Given the description of an element on the screen output the (x, y) to click on. 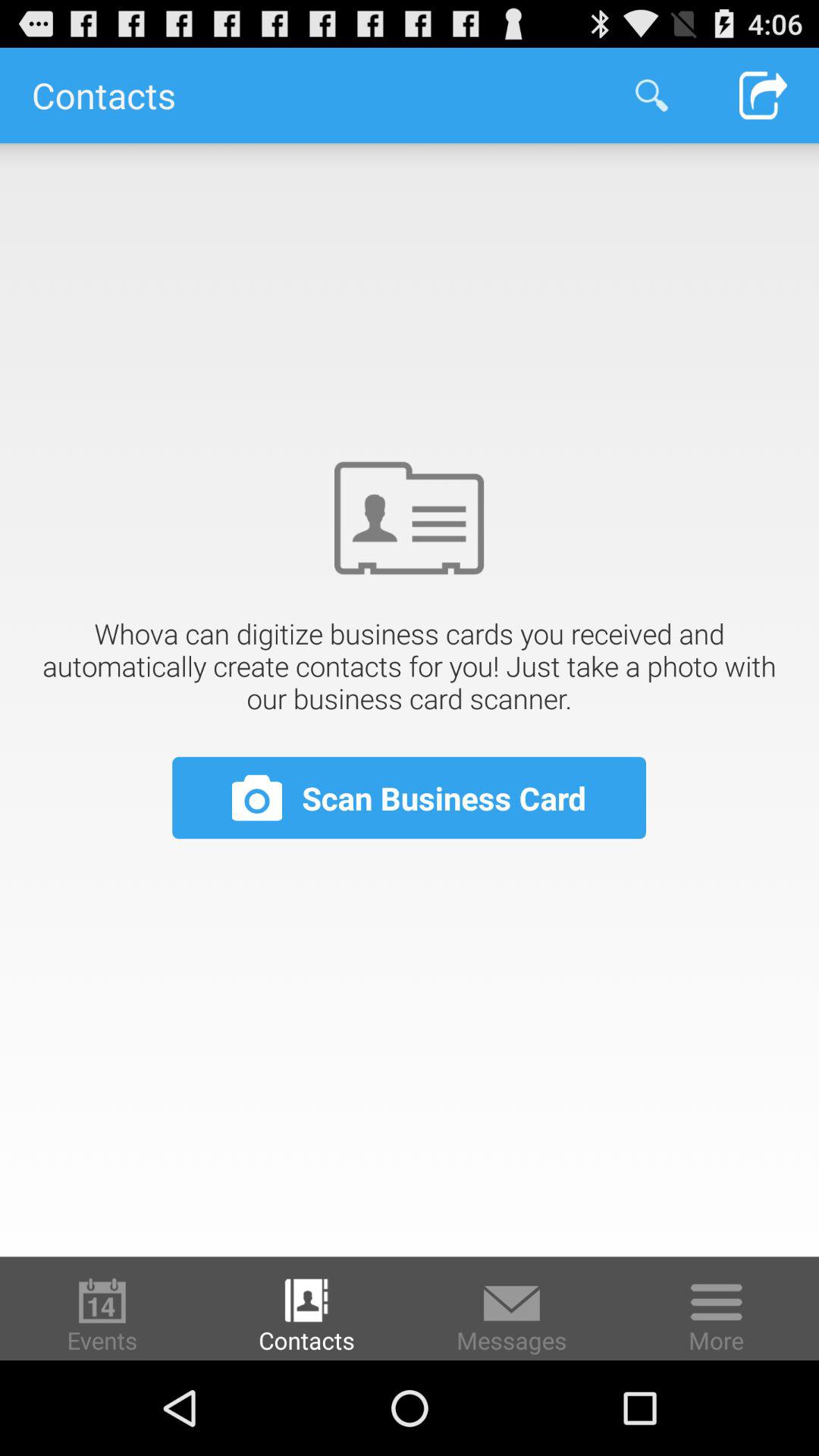
open the item above the whova can digitize item (651, 95)
